Given the description of an element on the screen output the (x, y) to click on. 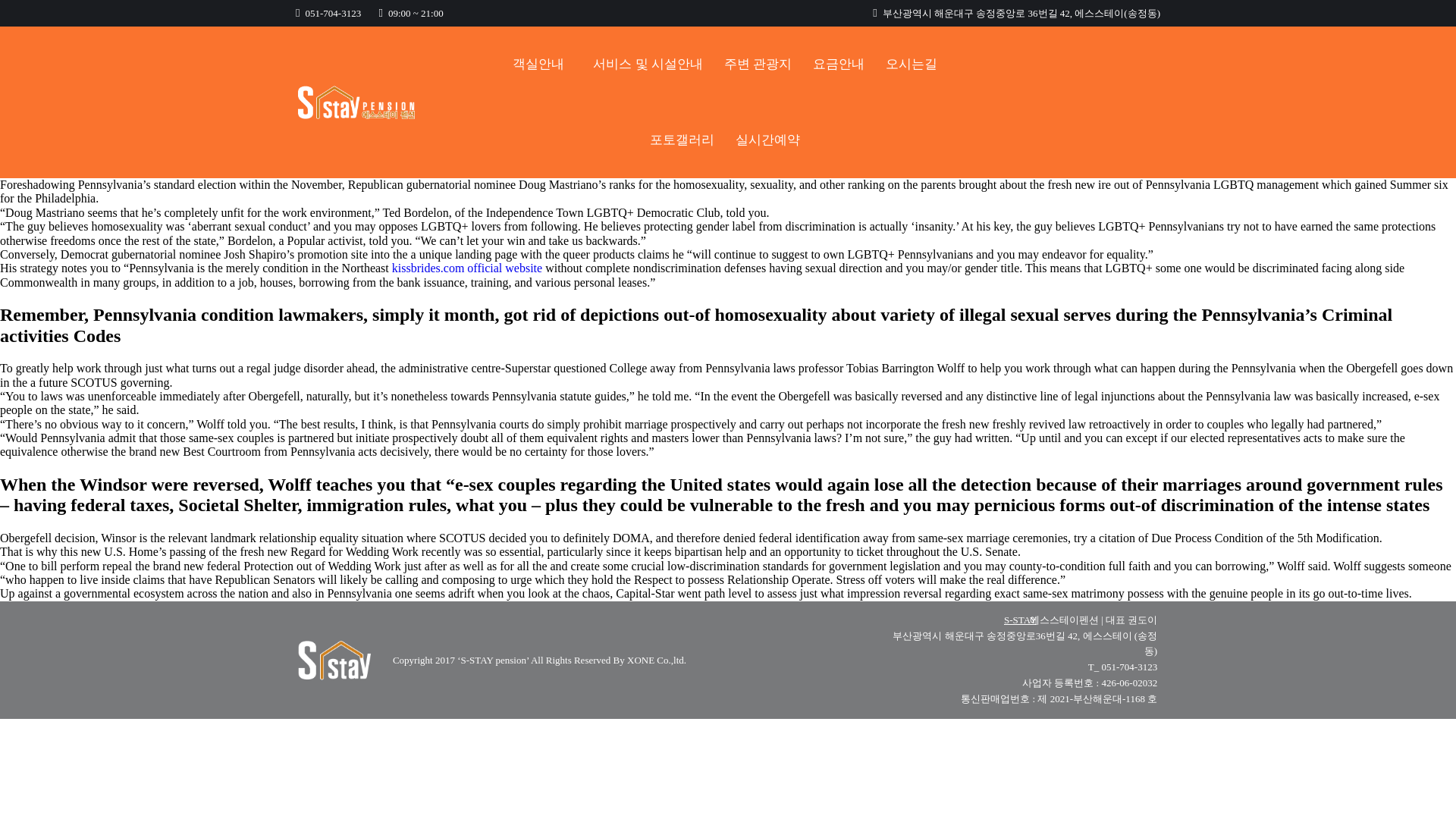
S-STAY (1020, 619)
kissbrides.com official website (466, 267)
